Given the description of an element on the screen output the (x, y) to click on. 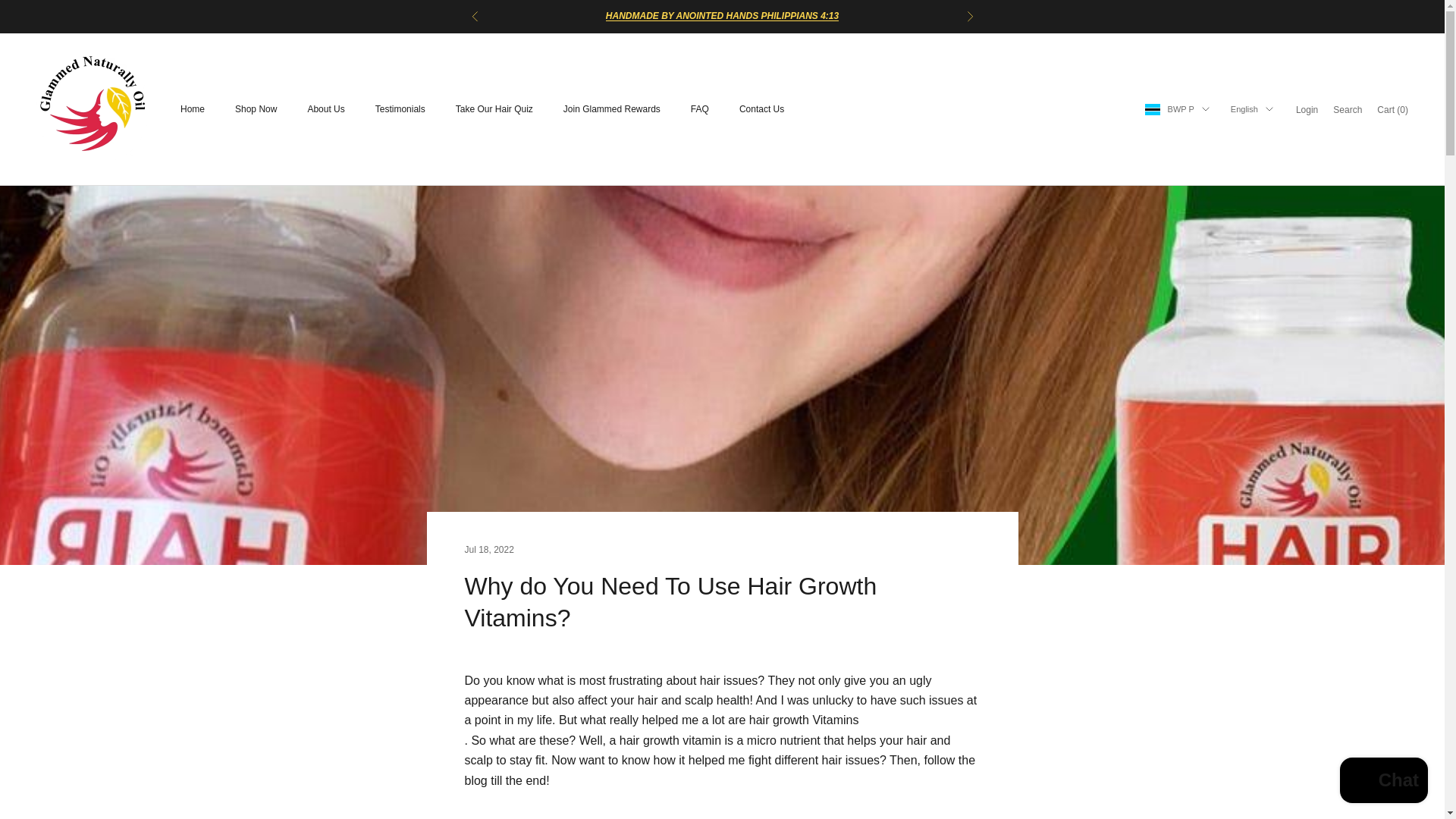
HANDMADE BY ANOINTED HANDS PHILIPPIANS 4:13 (721, 15)
Contact Us (761, 109)
Shopify online store chat (1383, 781)
BWP P (1176, 109)
Join Glammed Rewards (612, 109)
Our founders hair loss story.... (721, 15)
About Us (325, 109)
Home (192, 109)
GlammedNaturallyOil (92, 109)
FAQ (699, 109)
Take Our Hair Quiz (493, 109)
Testimonials (400, 109)
